Given the description of an element on the screen output the (x, y) to click on. 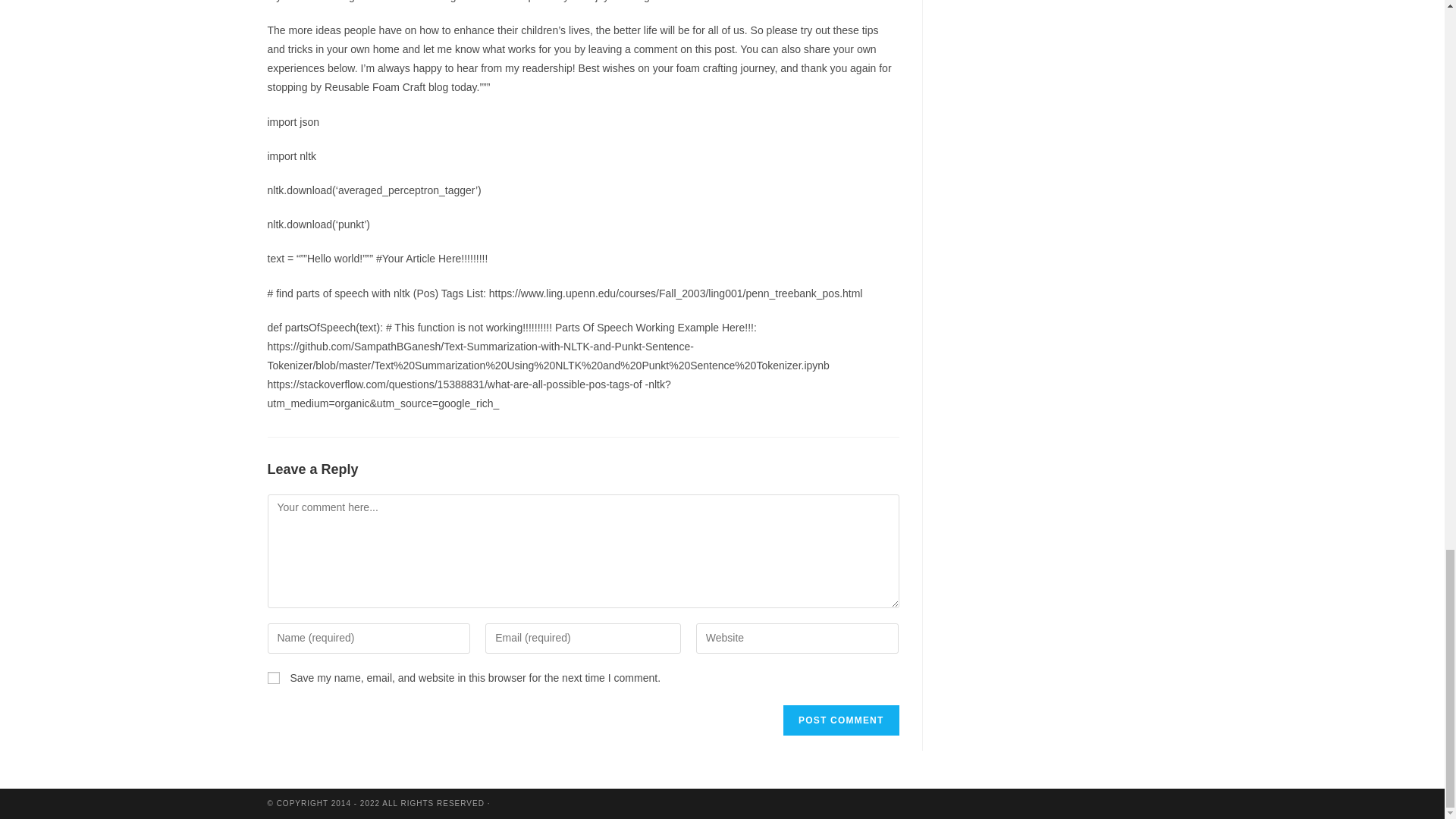
yes (272, 677)
Post Comment (840, 720)
Post Comment (840, 720)
